Given the description of an element on the screen output the (x, y) to click on. 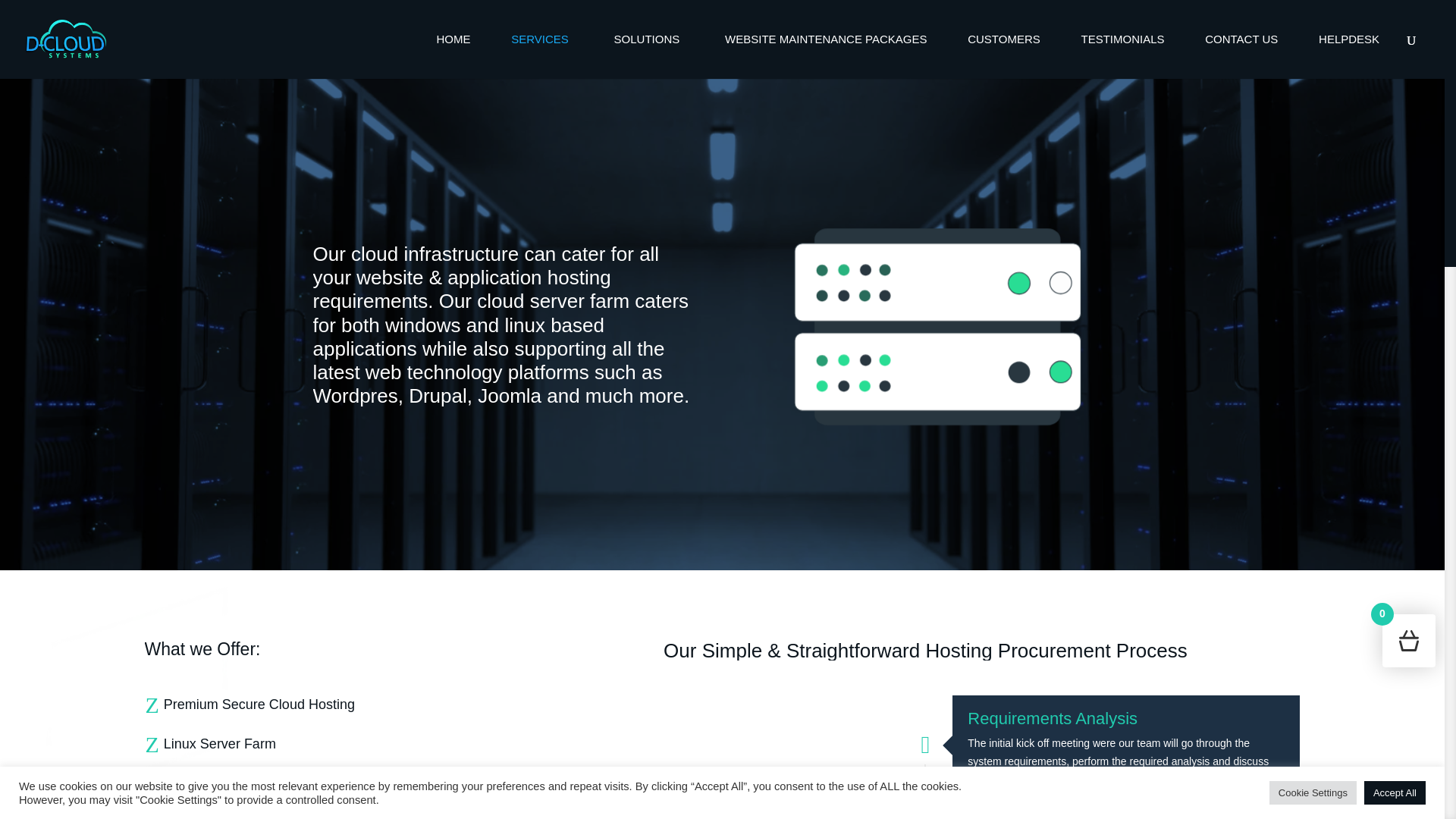
CUSTOMERS (1002, 56)
TESTIMONIALS (1122, 56)
SERVICES (541, 56)
HELPDESK (1348, 56)
CONTACT US (1240, 56)
SOLUTIONS (649, 56)
HOME (453, 56)
WEBSITE MAINTENANCE PACKAGES (825, 56)
